Given the description of an element on the screen output the (x, y) to click on. 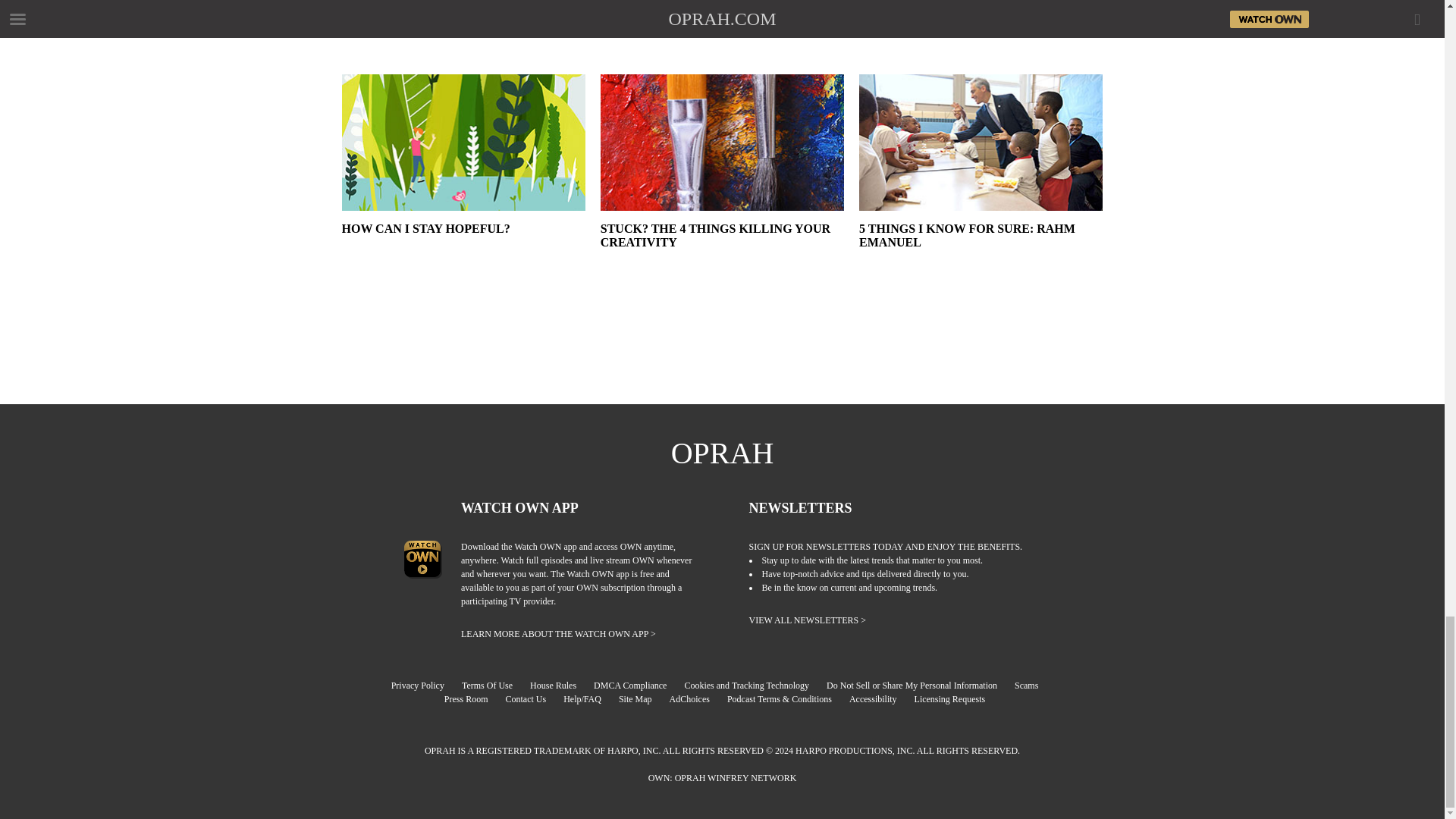
OPRAH (722, 453)
6 THINGS GAYLE KING IS LOVING THIS SEPTEMBER (980, 37)
MY MOTHER, THE ADVENTURER (462, 37)
5 THINGS I KNOW FOR SURE: RAHM EMANUEL (980, 248)
House Rules (560, 685)
Cookies and Tracking Technology (754, 685)
HOW CAN I STAY HOPEFUL? (462, 248)
Privacy Policy (425, 685)
STUCK? THE 4 THINGS KILLING YOUR CREATIVITY (721, 248)
Scams (1033, 685)
Do Not Sell or Share My Personal Information (919, 685)
Terms Of Use (494, 685)
20 LIFE-ILLUMINATING QUOTES FROM NEW MEMOIRS (721, 37)
DMCA Compliance (637, 685)
